Given the description of an element on the screen output the (x, y) to click on. 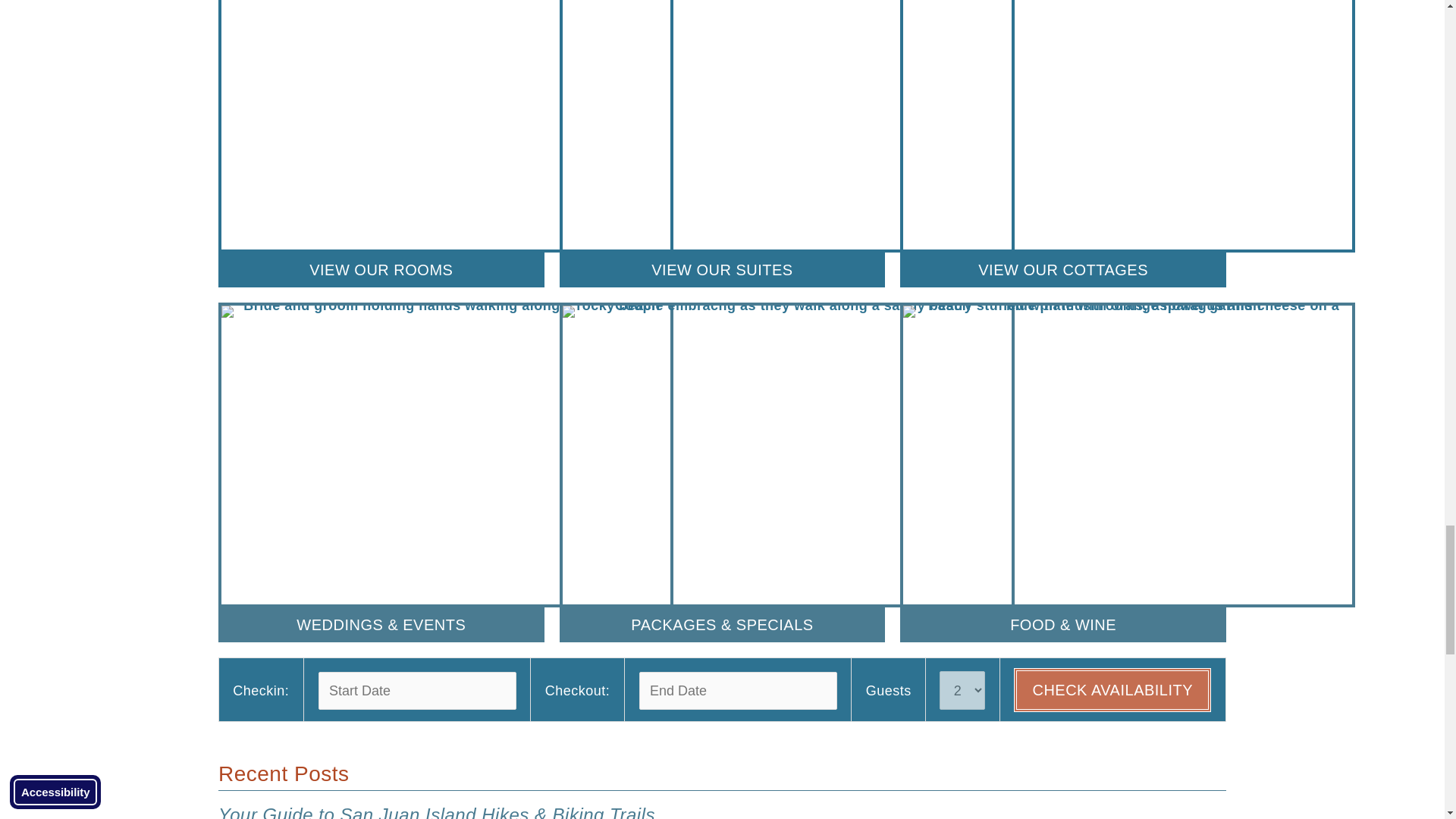
Check Availability (1112, 689)
